Given the description of an element on the screen output the (x, y) to click on. 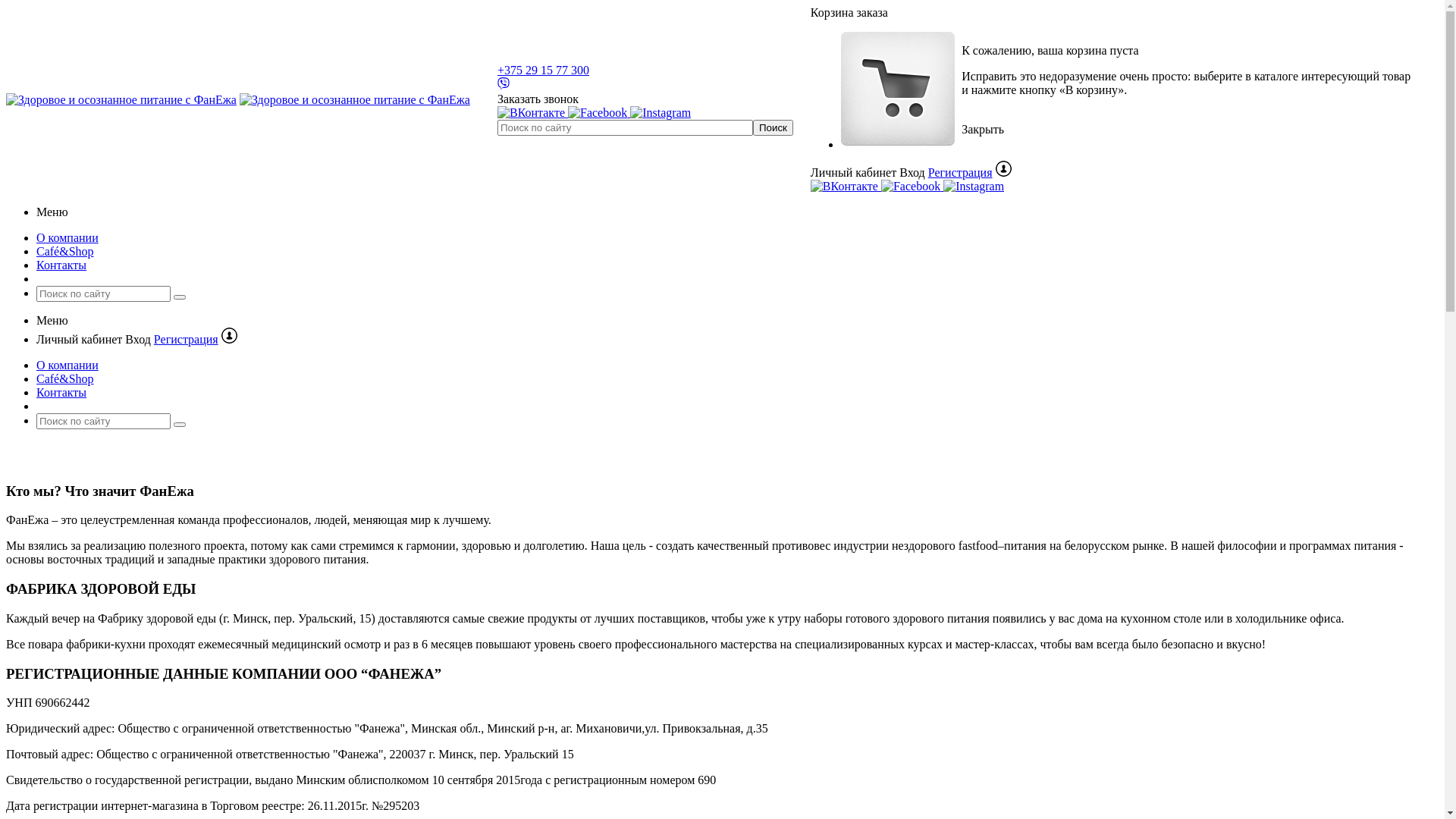
Facebook Element type: hover (910, 186)
Facebook Element type: hover (597, 112)
Instagram Element type: hover (973, 186)
Instagram Element type: hover (660, 112)
Viber Element type: hover (503, 84)
+375 29 15 77 300 Element type: text (543, 69)
